Given the description of an element on the screen output the (x, y) to click on. 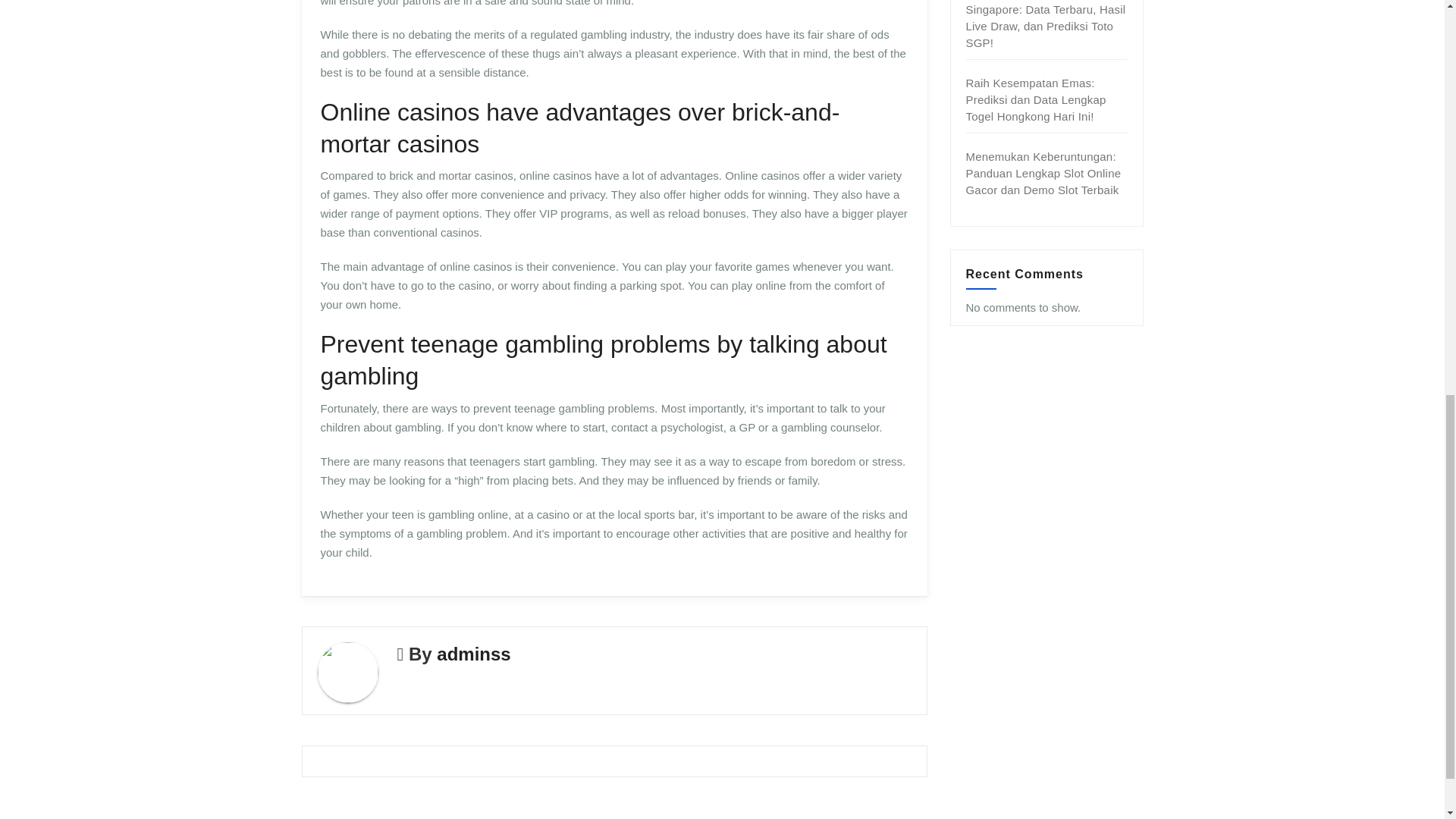
adminss (473, 653)
